Given the description of an element on the screen output the (x, y) to click on. 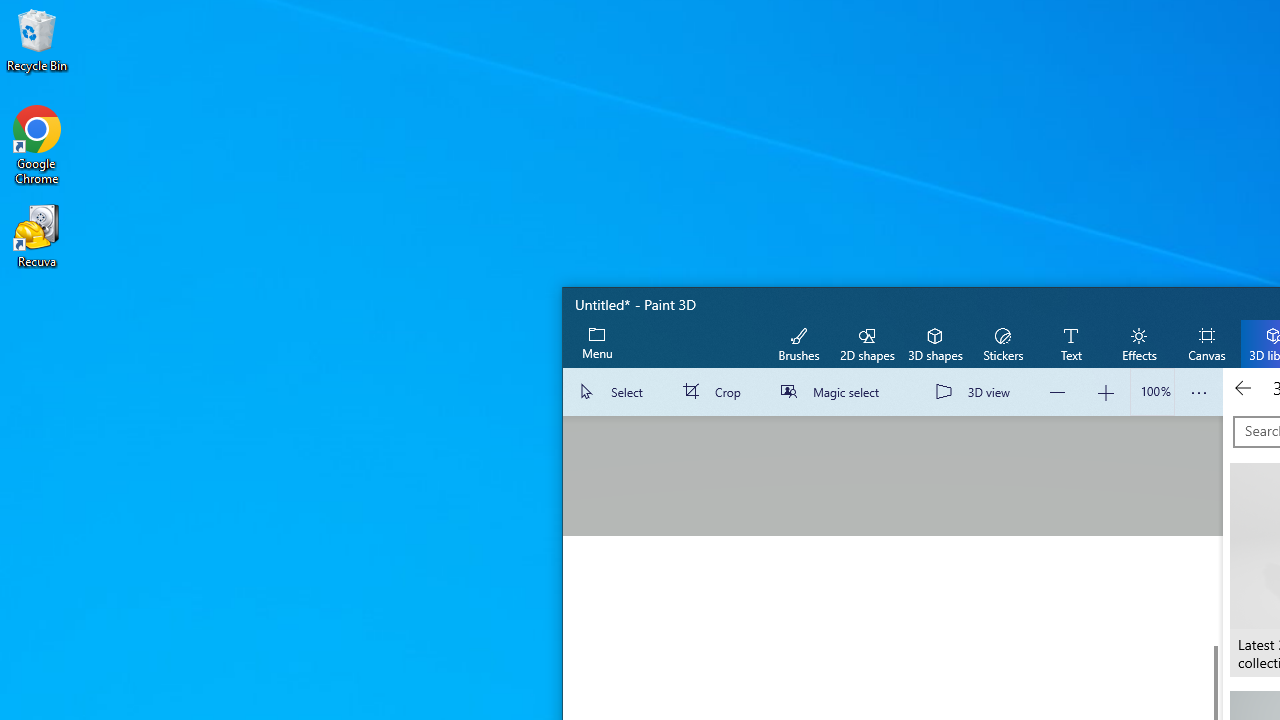
3D shapes (934, 343)
Zoom slider (1152, 391)
View more options (1198, 391)
3D view (977, 391)
Zoom out (1057, 391)
Magic select (833, 391)
Vertical Large Decrease (1215, 530)
Crop (715, 391)
Zoom in (1105, 391)
Select (614, 391)
Text (1070, 343)
Canvas (1206, 343)
2D shapes (867, 343)
Stickers (1002, 343)
